Given the description of an element on the screen output the (x, y) to click on. 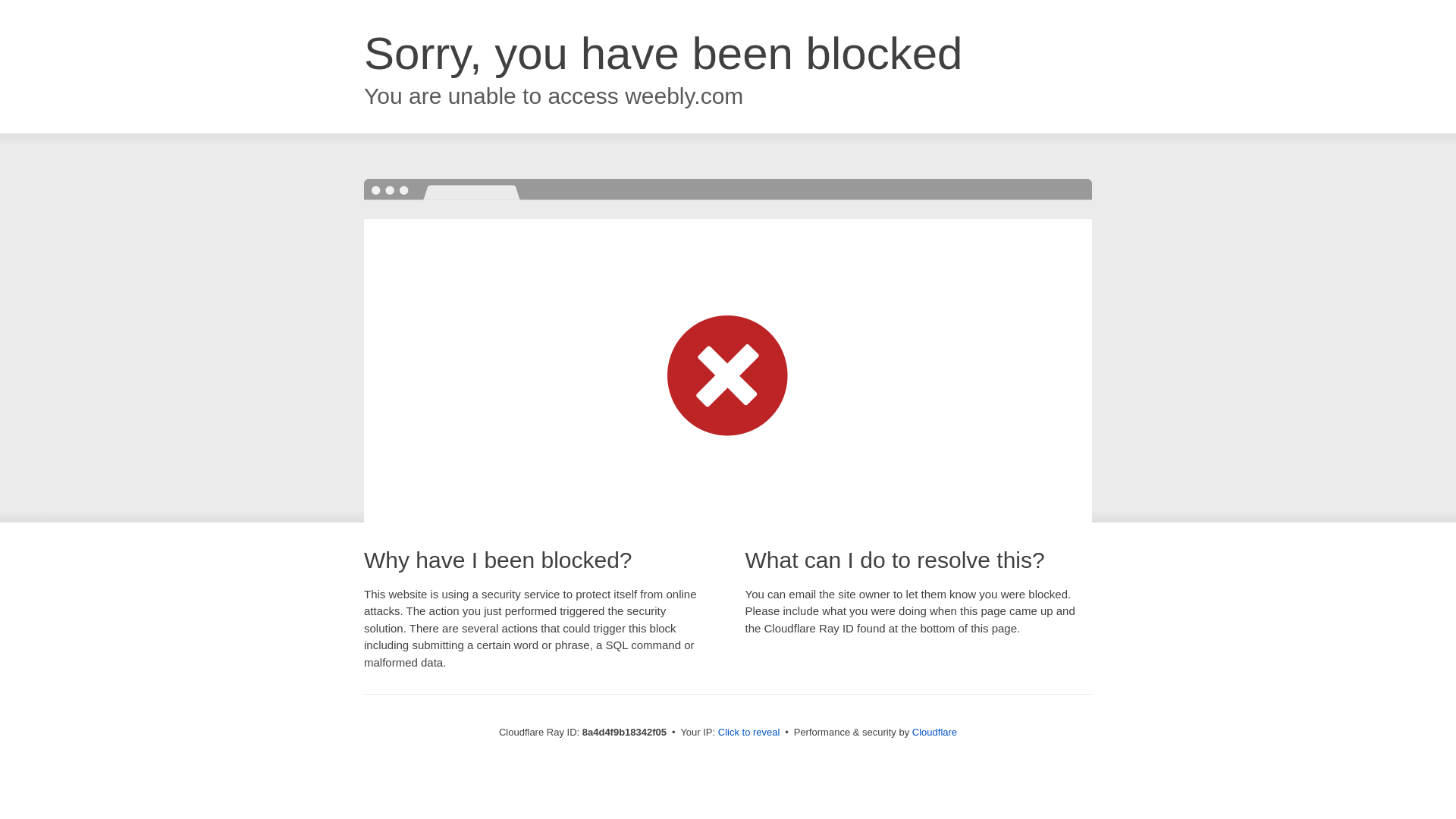
Cloudflare (934, 731)
Click to reveal (748, 732)
